Given the description of an element on the screen output the (x, y) to click on. 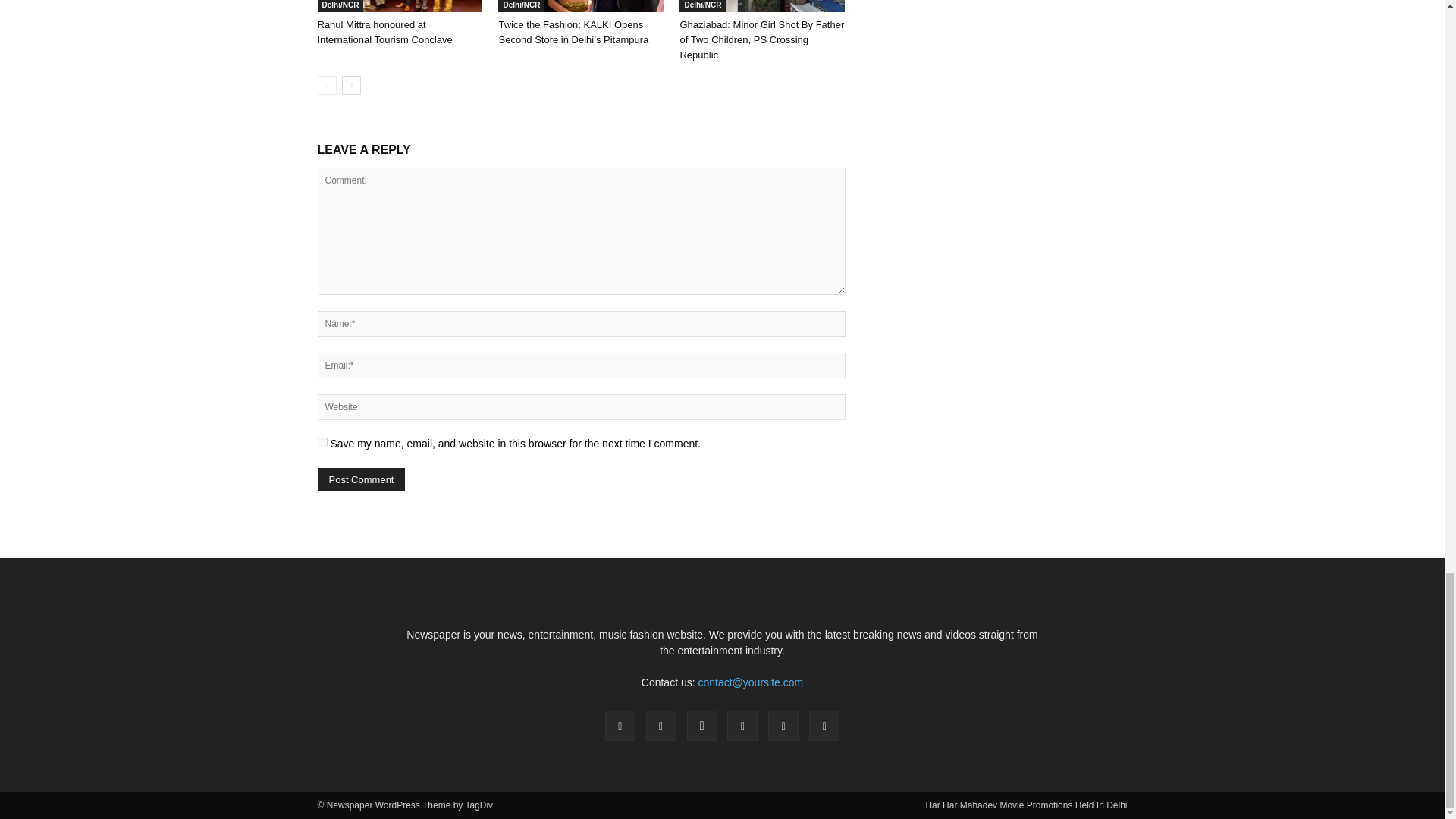
Post Comment (360, 479)
yes (321, 442)
